Given the description of an element on the screen output the (x, y) to click on. 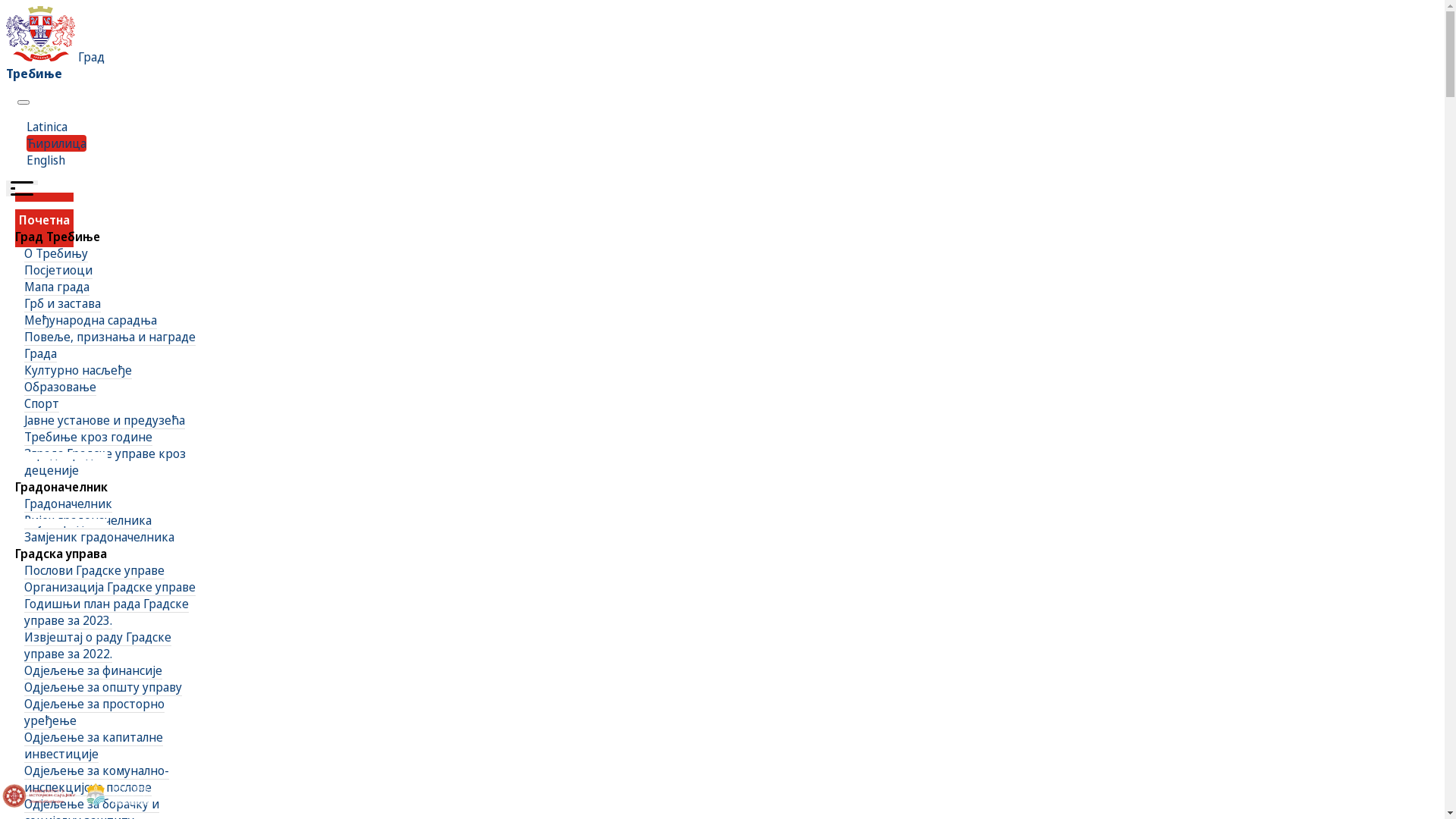
English Element type: text (45, 159)
Latinica Element type: text (46, 126)
